Given the description of an element on the screen output the (x, y) to click on. 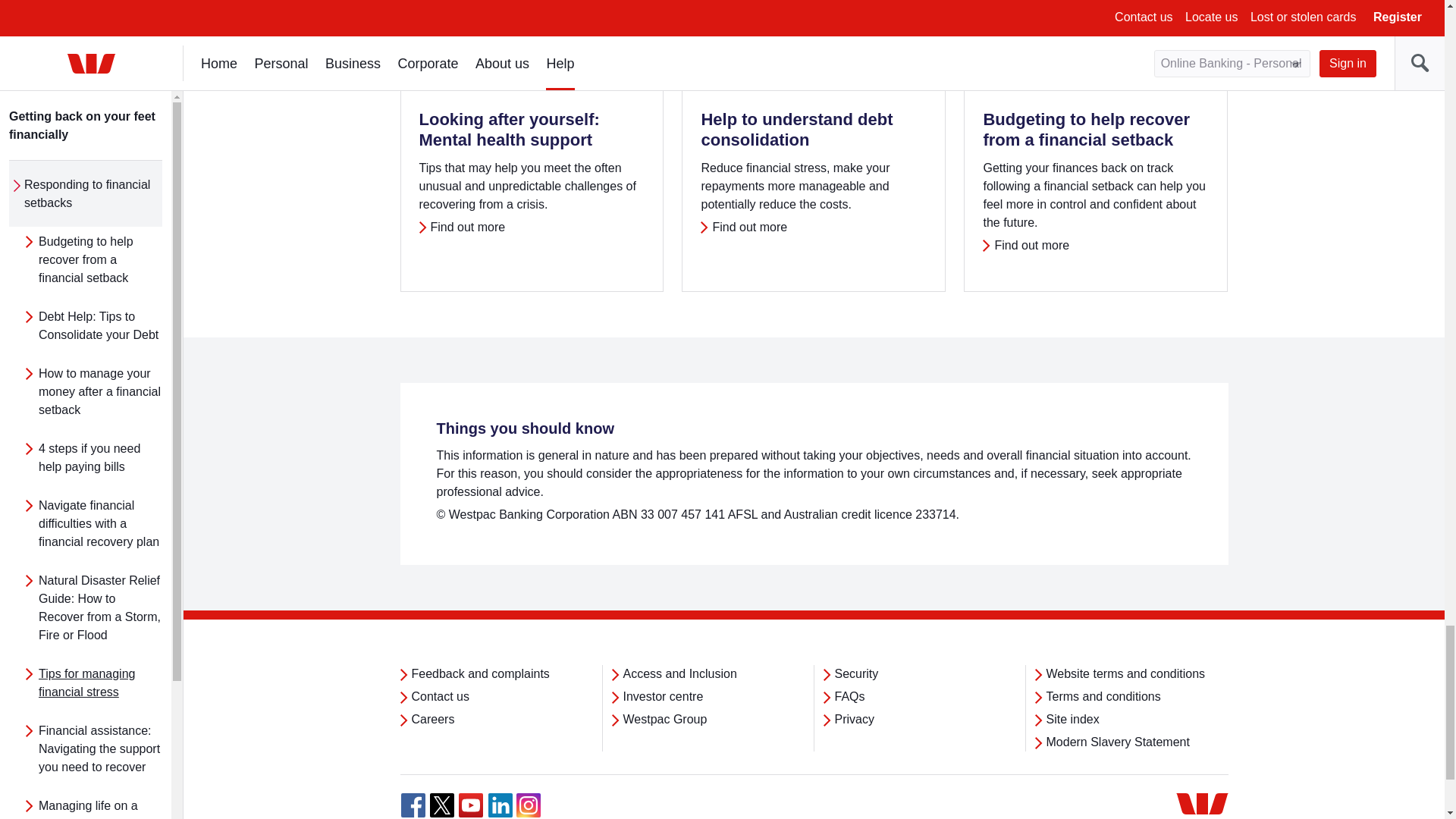
Youtube (470, 805)
Facebook (412, 805)
Twitter (441, 805)
LinkedIn (499, 805)
Instagram (528, 805)
